Given the description of an element on the screen output the (x, y) to click on. 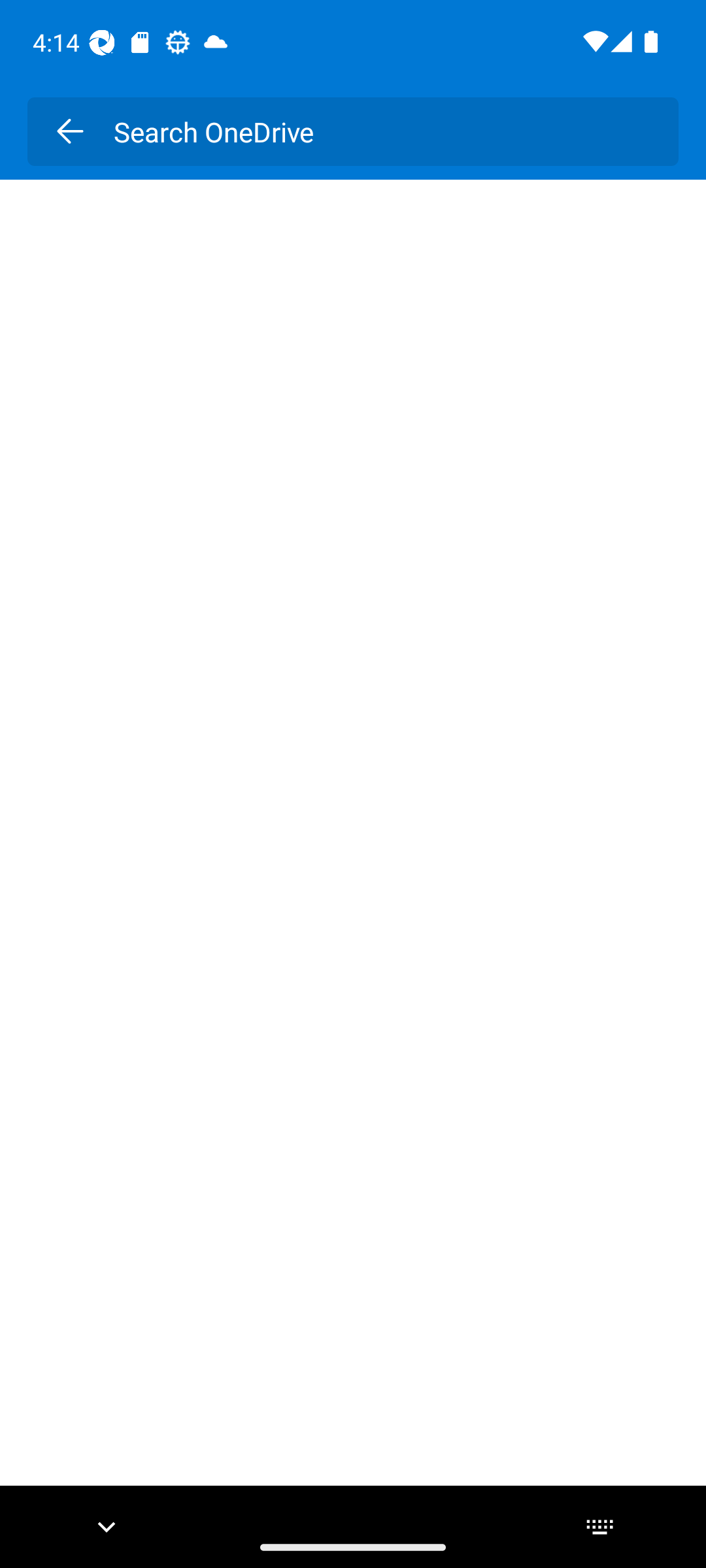
Navigate Up (69, 131)
Search OneDrive (382, 131)
